Given the description of an element on the screen output the (x, y) to click on. 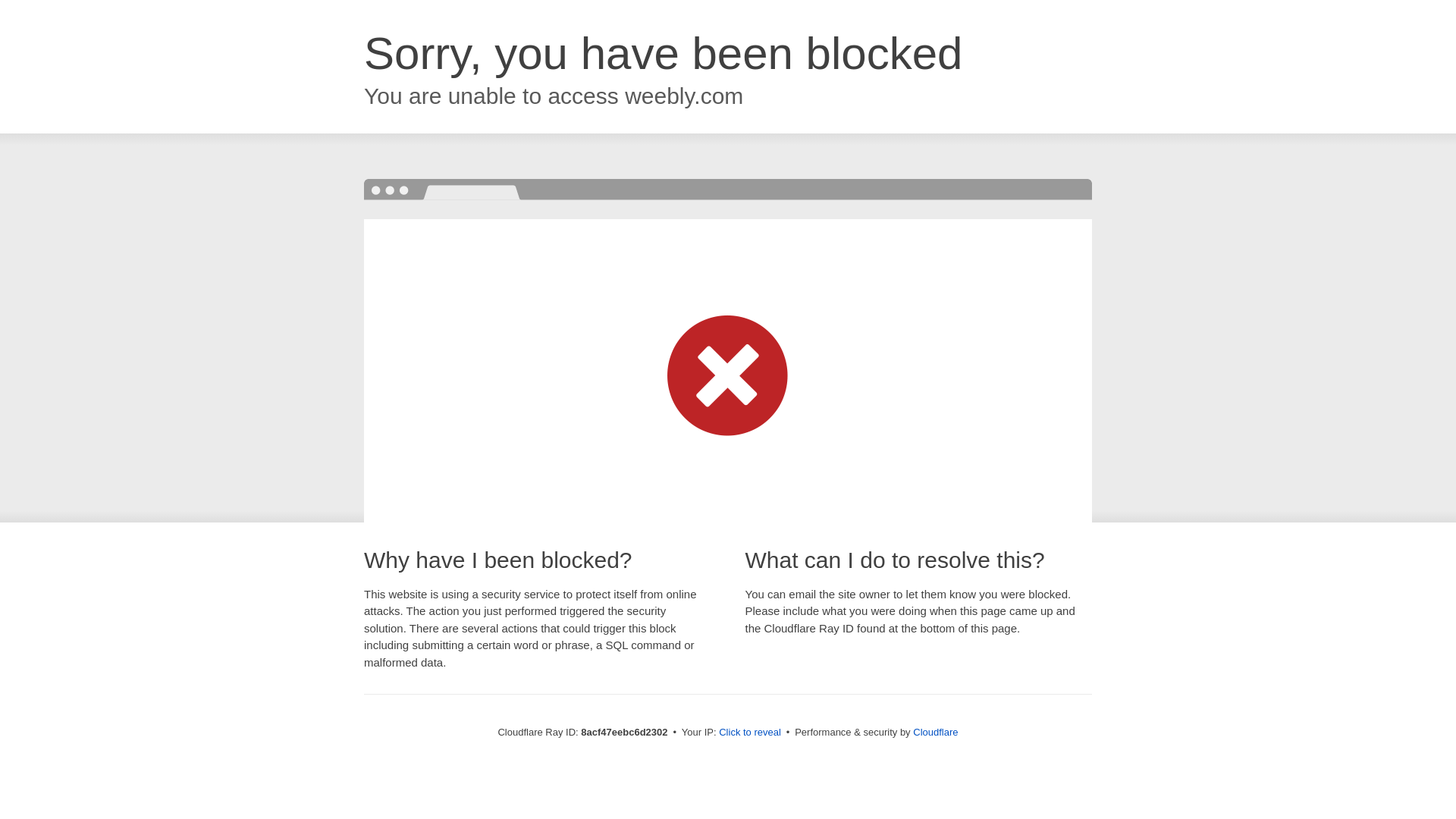
Click to reveal (749, 732)
Cloudflare (935, 731)
